Given the description of an element on the screen output the (x, y) to click on. 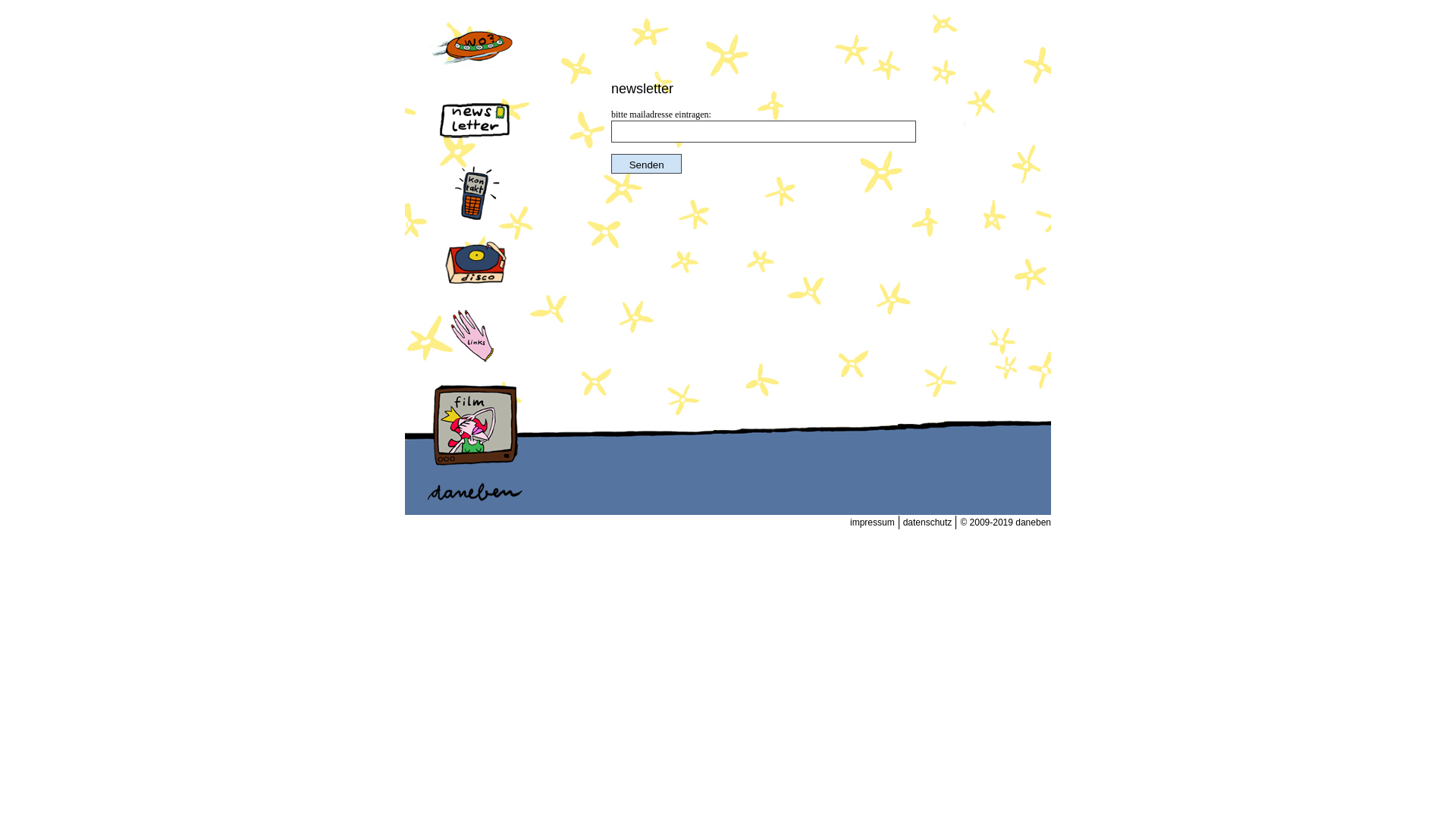
Senden Element type: text (646, 163)
impressum Element type: text (872, 522)
datenschutz Element type: text (928, 522)
